Given the description of an element on the screen output the (x, y) to click on. 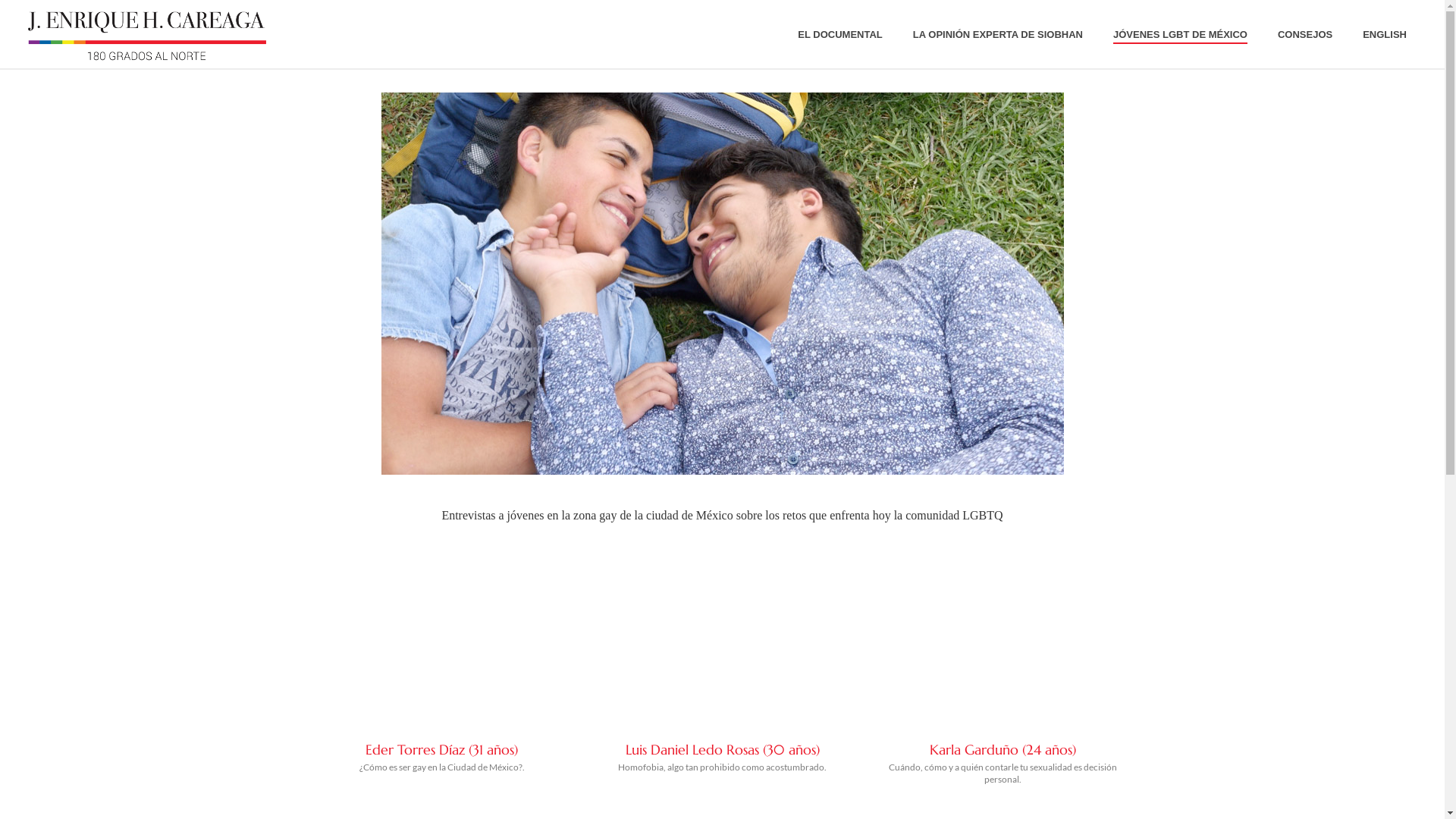
EL DOCUMENTAL Element type: text (839, 34)
ENGLISH Element type: text (1384, 34)
CONSEJOS Element type: text (1304, 34)
